Given the description of an element on the screen output the (x, y) to click on. 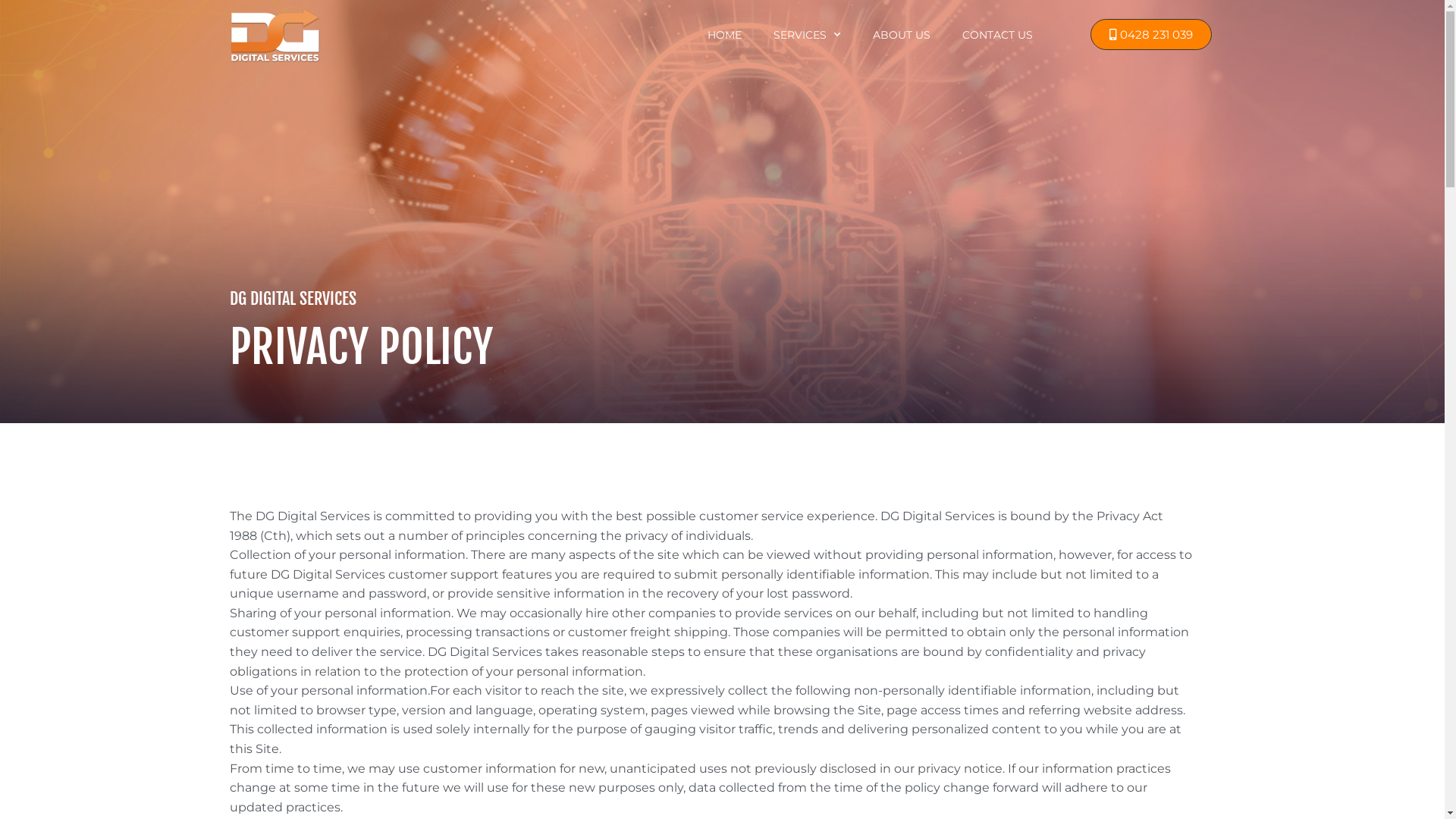
CONTACT US Element type: text (997, 34)
SERVICES Element type: text (807, 34)
HOME Element type: text (724, 34)
ABOUT US Element type: text (901, 34)
0428 231 039 Element type: text (1150, 34)
